Given the description of an element on the screen output the (x, y) to click on. 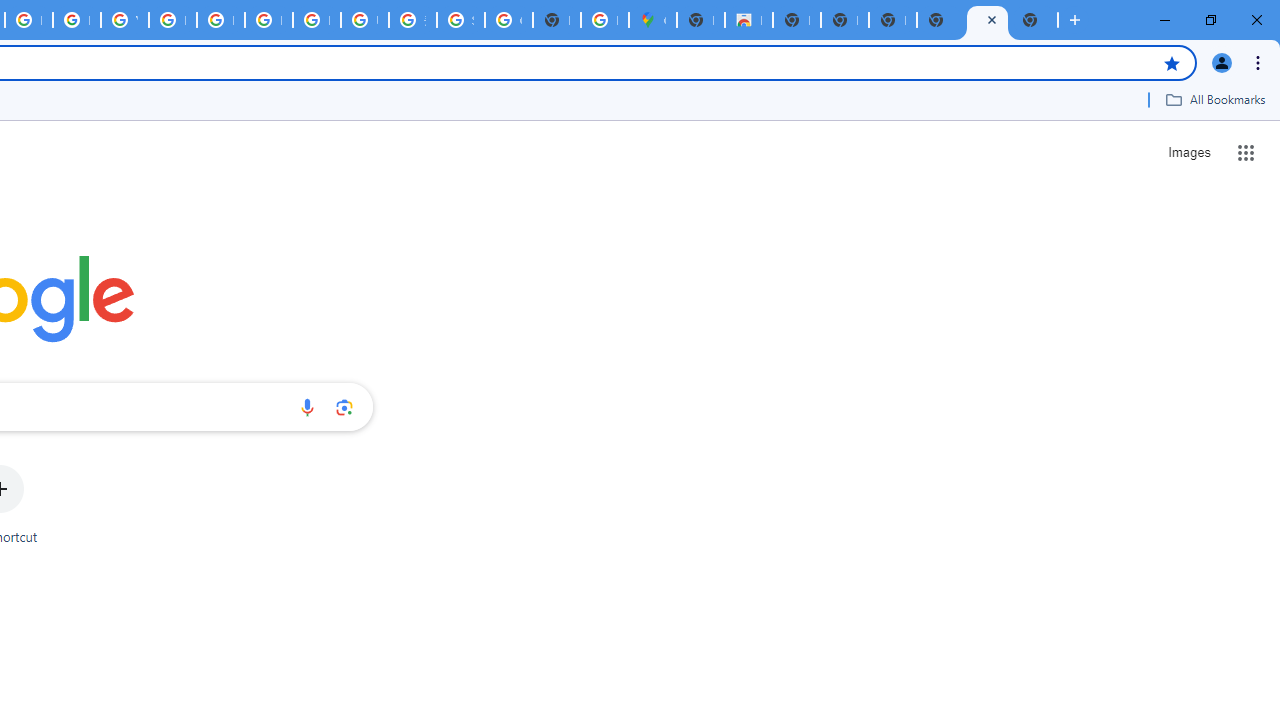
Explore new street-level details - Google Maps Help (604, 20)
Search by voice (307, 407)
All Bookmarks (1215, 99)
YouTube (124, 20)
Google Maps (652, 20)
Search by image (344, 407)
